Given the description of an element on the screen output the (x, y) to click on. 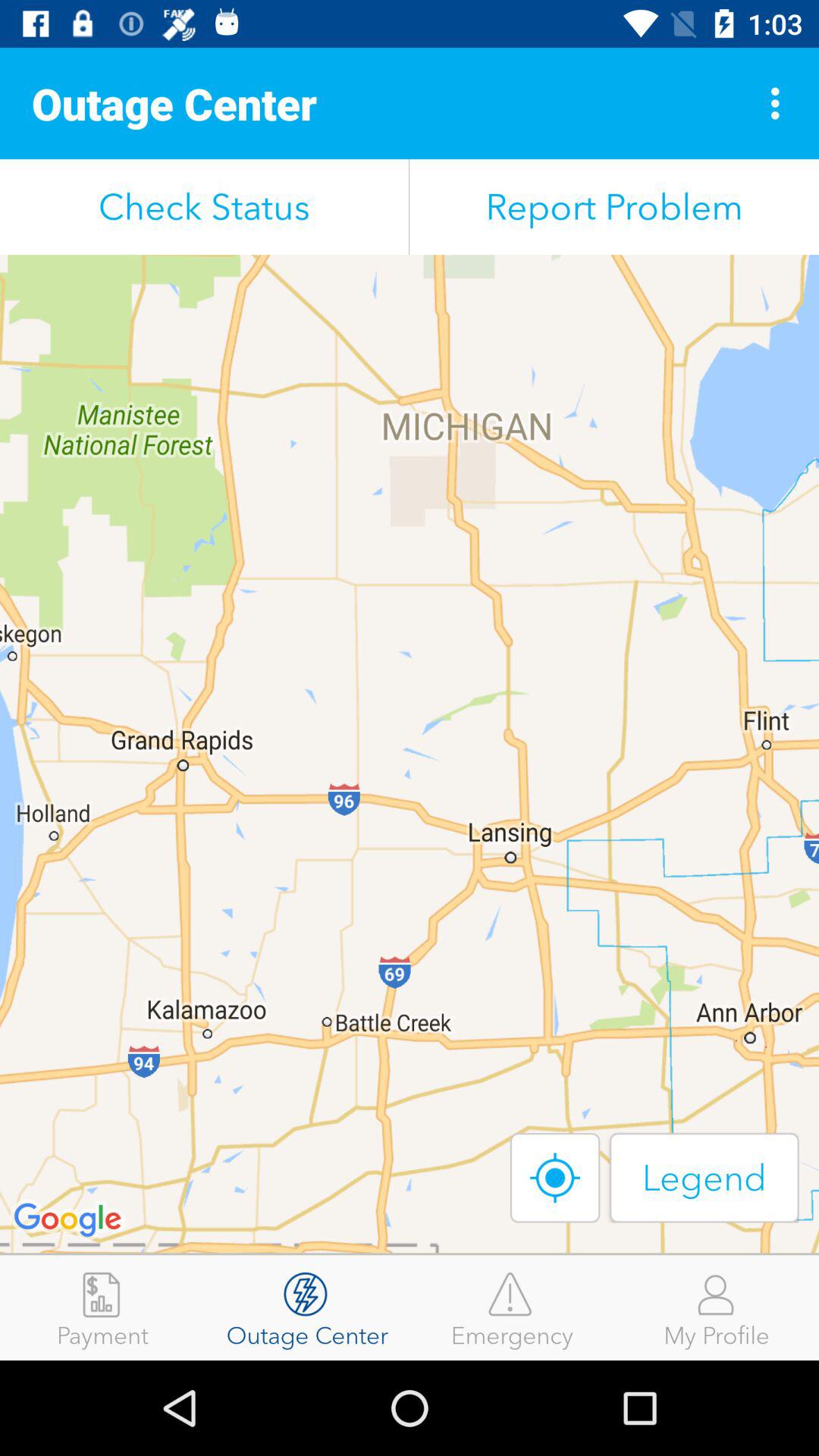
turn on the icon to the right of the check status (614, 206)
